Given the description of an element on the screen output the (x, y) to click on. 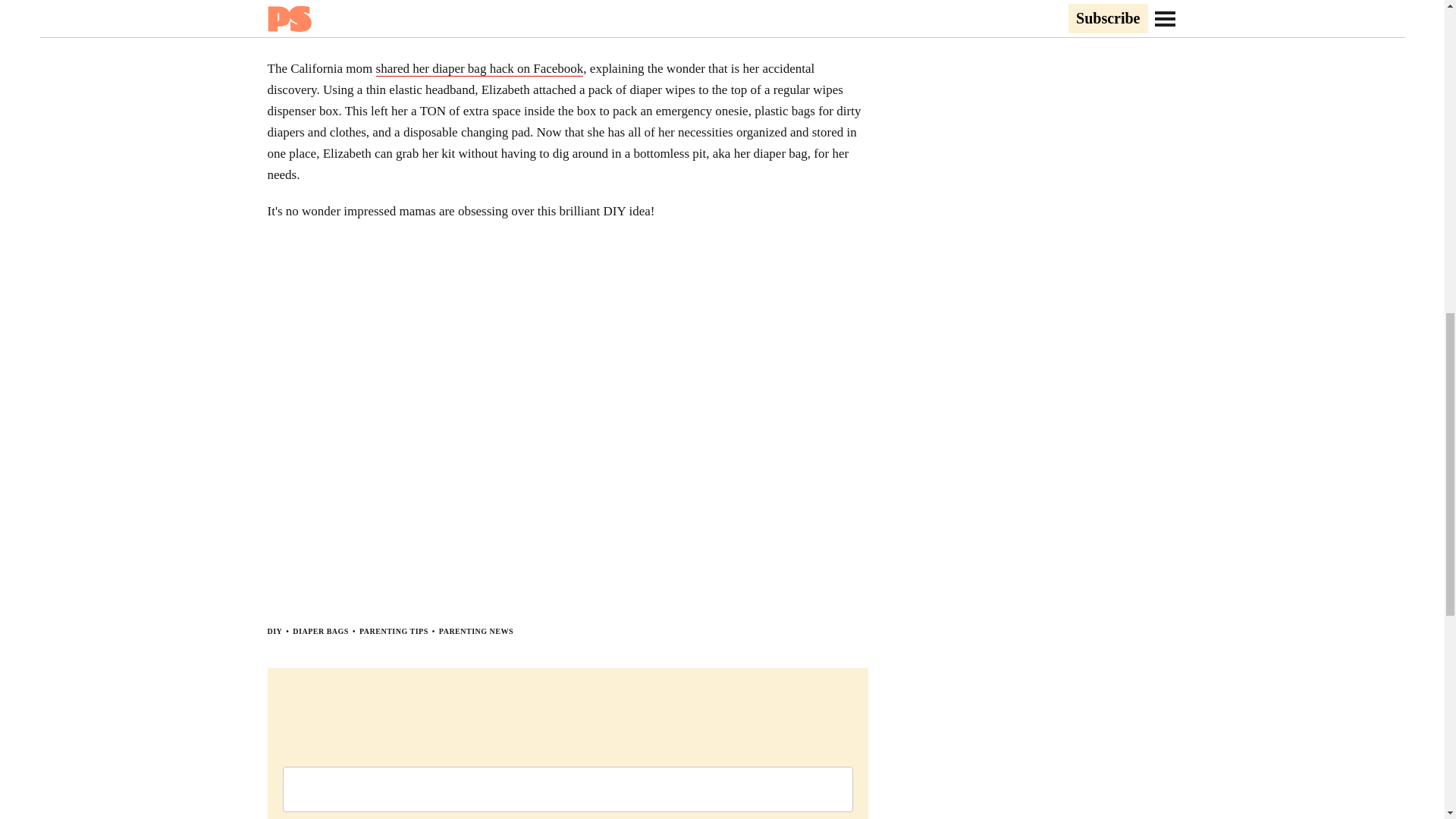
a genius solution (571, 11)
PARENTING NEWS (476, 631)
shared her diaper bag hack on Facebook (479, 68)
PARENTING TIPS (393, 631)
DIY (274, 631)
DIAPER BAGS (320, 631)
